Given the description of an element on the screen output the (x, y) to click on. 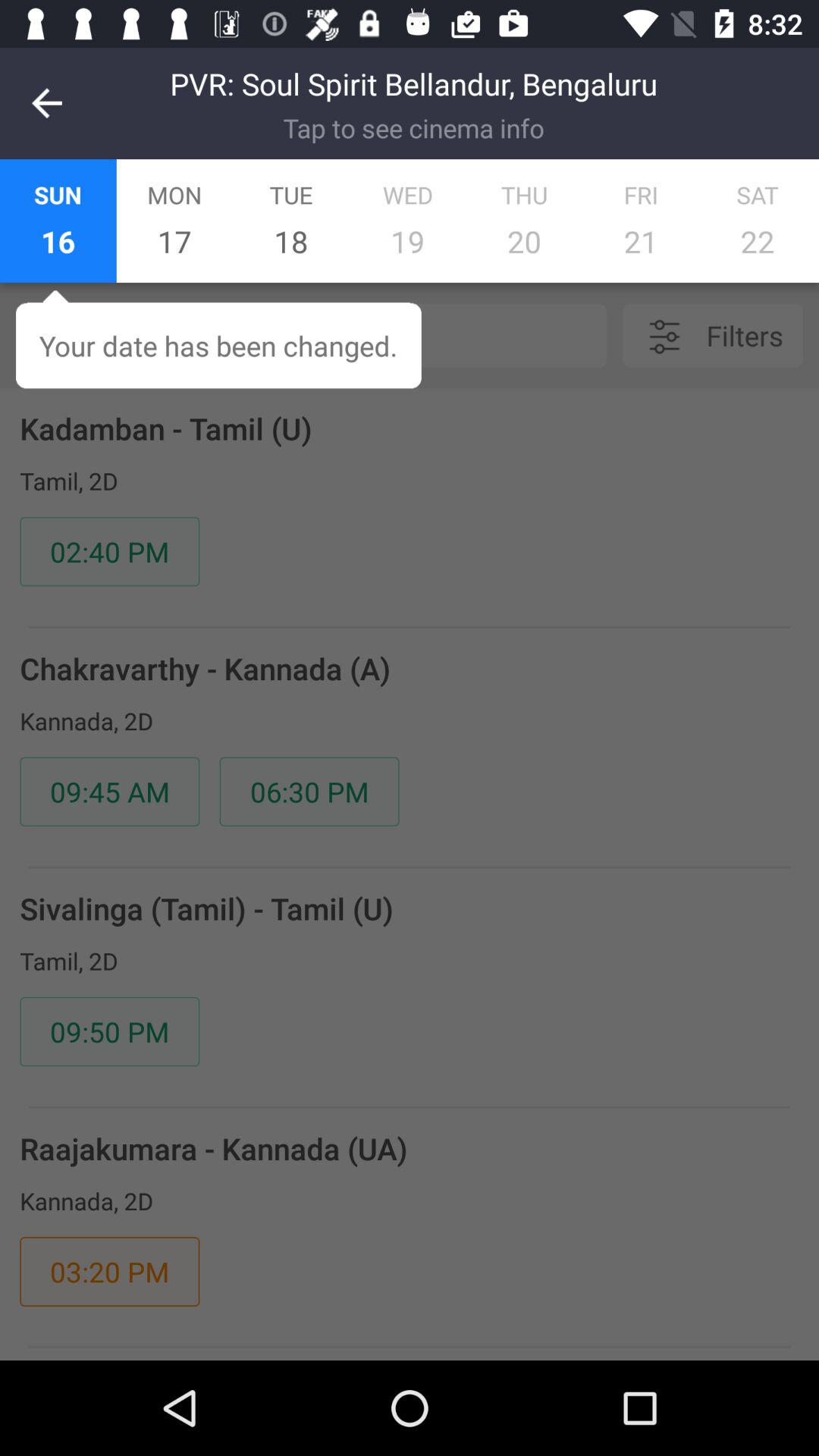
jump to the 02:40 pm icon (109, 551)
